Given the description of an element on the screen output the (x, y) to click on. 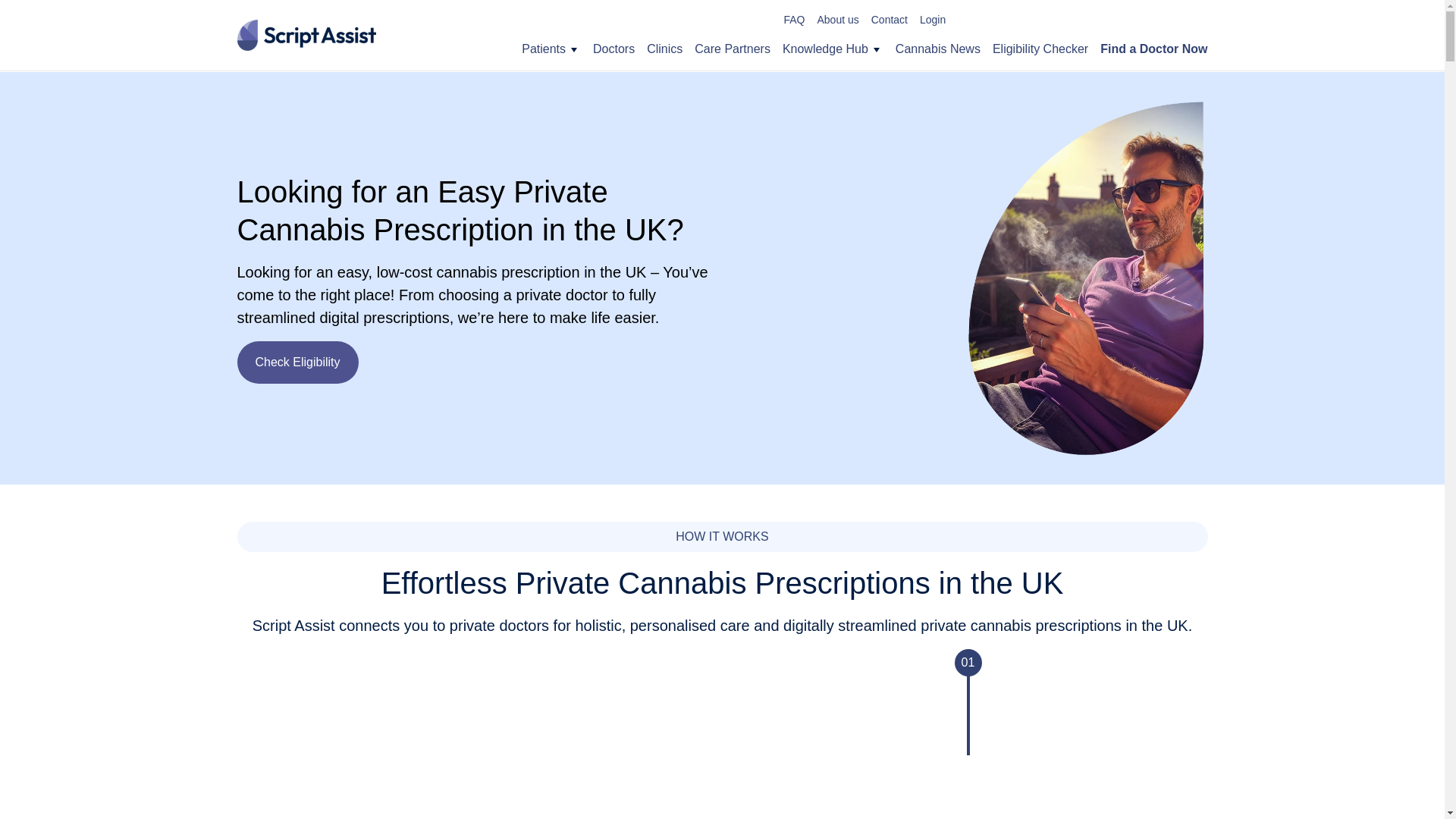
Patients (543, 49)
Knowledge Hub (825, 49)
Login (932, 19)
Doctors (613, 49)
Contact (888, 19)
Check Eligibility (296, 362)
Find a Doctor Now (1153, 49)
Eligibility Checker (1039, 49)
Clinics (664, 49)
Cannabis News (937, 49)
